Given the description of an element on the screen output the (x, y) to click on. 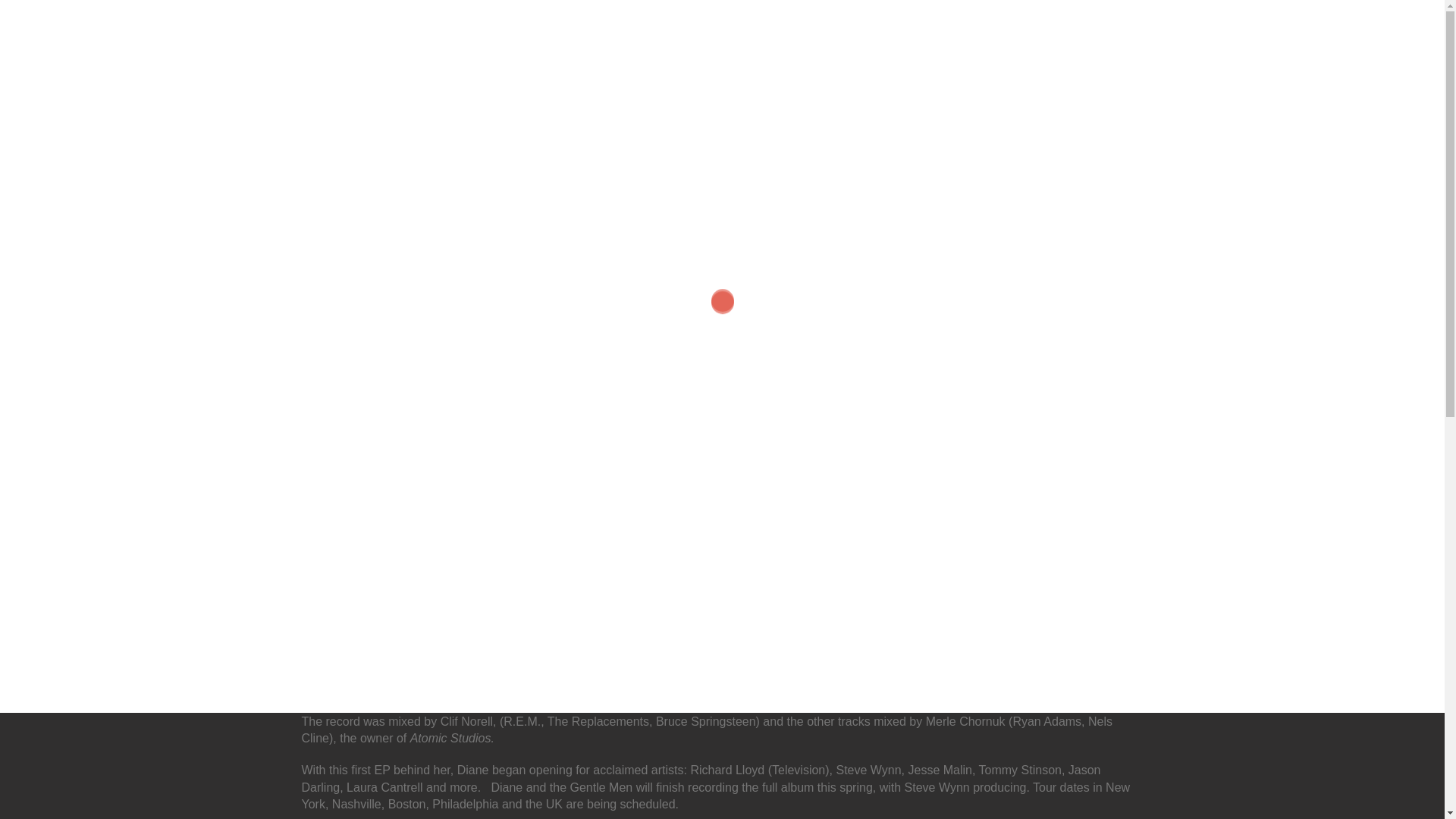
HOME (613, 36)
DANCE PARTY (848, 36)
RESERVATIONS (1026, 36)
CALENDAR (686, 36)
Berlin NYC (419, 52)
VENUE (763, 36)
MENU (931, 36)
